Given the description of an element on the screen output the (x, y) to click on. 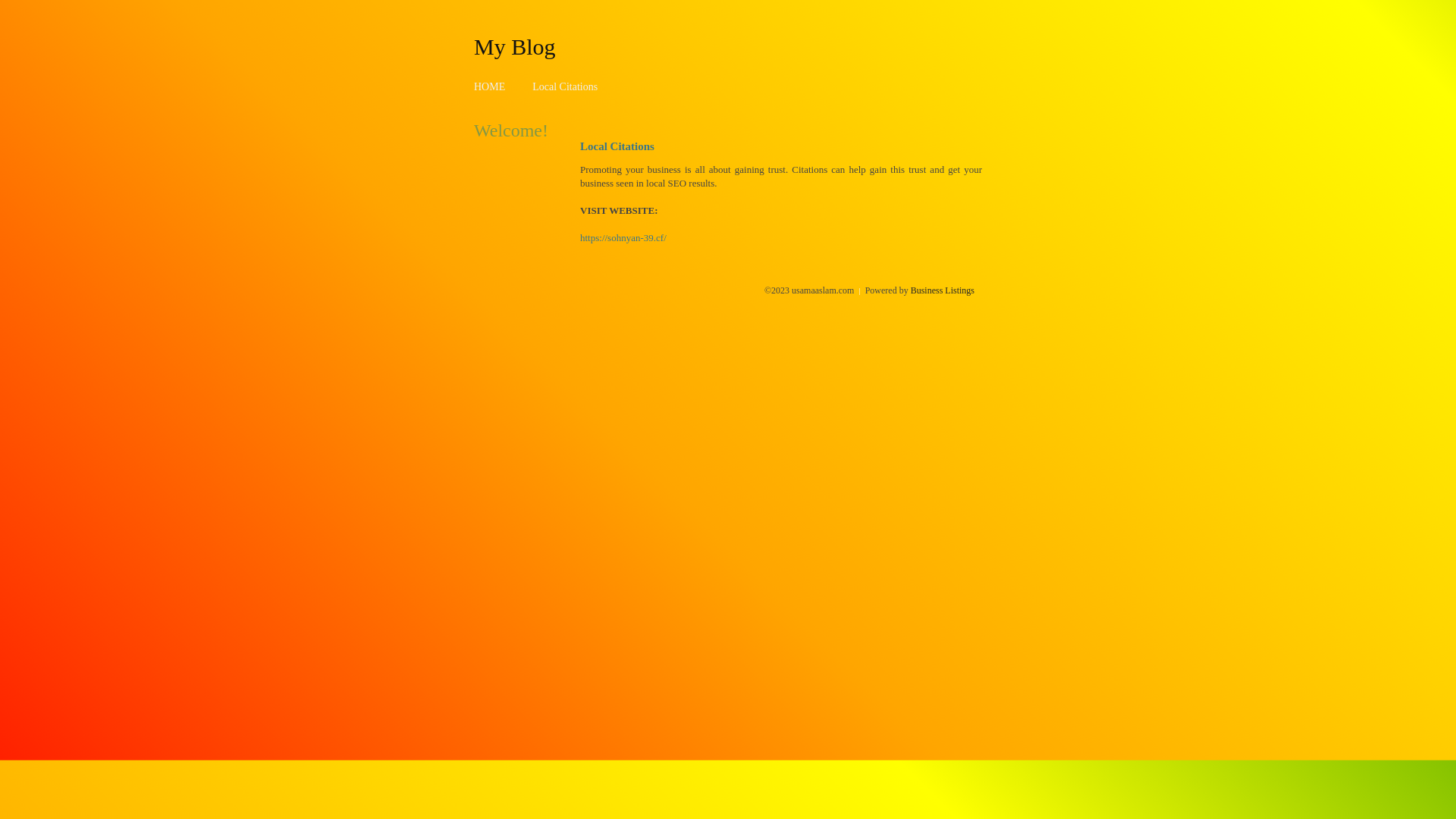
https://sohnyan-39.cf/ Element type: text (623, 237)
Business Listings Element type: text (942, 290)
My Blog Element type: text (514, 46)
Local Citations Element type: text (564, 86)
HOME Element type: text (489, 86)
